Given the description of an element on the screen output the (x, y) to click on. 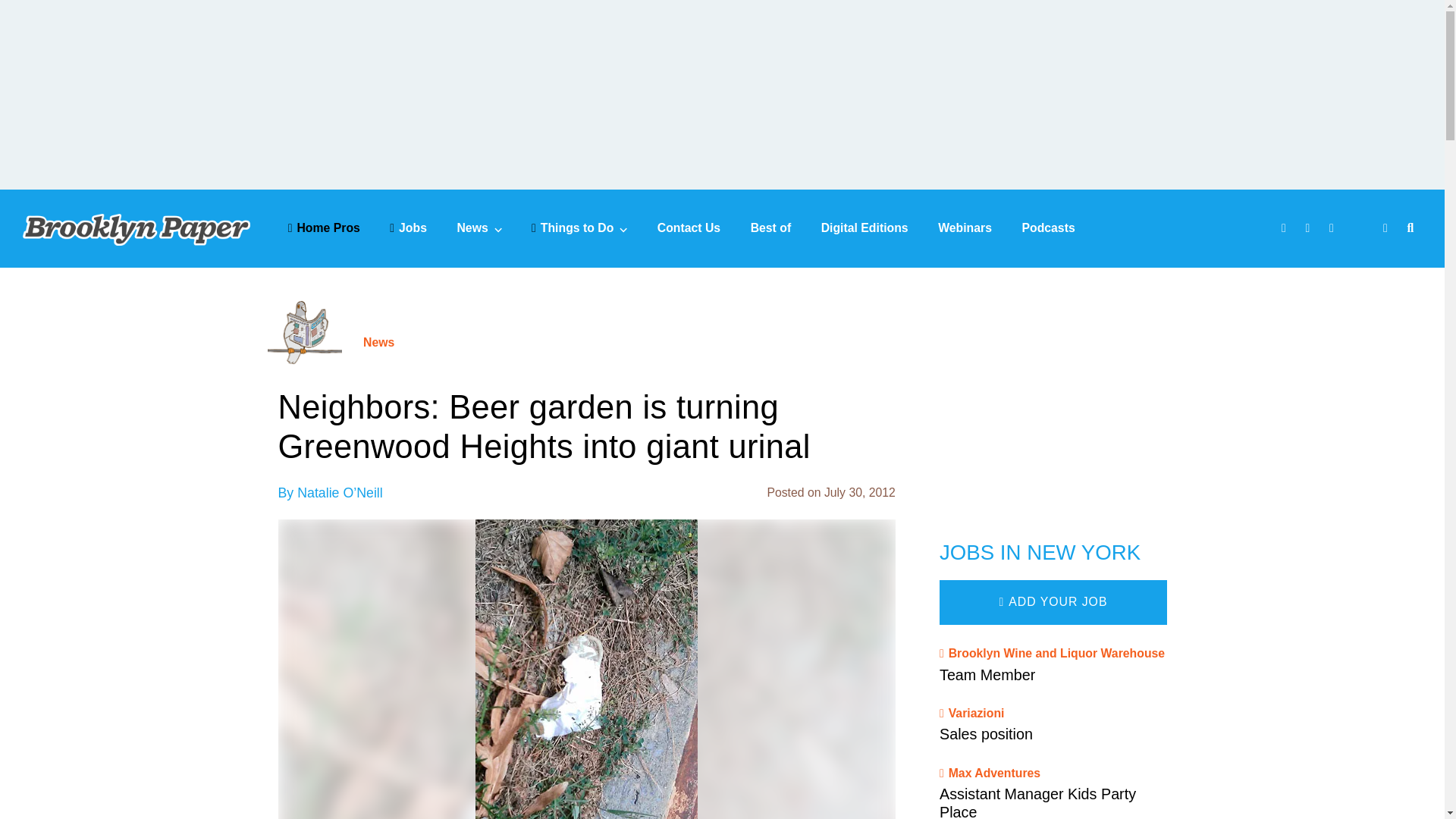
Digital Editions (864, 227)
Best of (771, 227)
Podcasts (1048, 227)
Contact Us (689, 227)
Home Pros (323, 227)
News (478, 227)
Webinars (964, 227)
Jobs (408, 227)
Things to Do (579, 227)
